Given the description of an element on the screen output the (x, y) to click on. 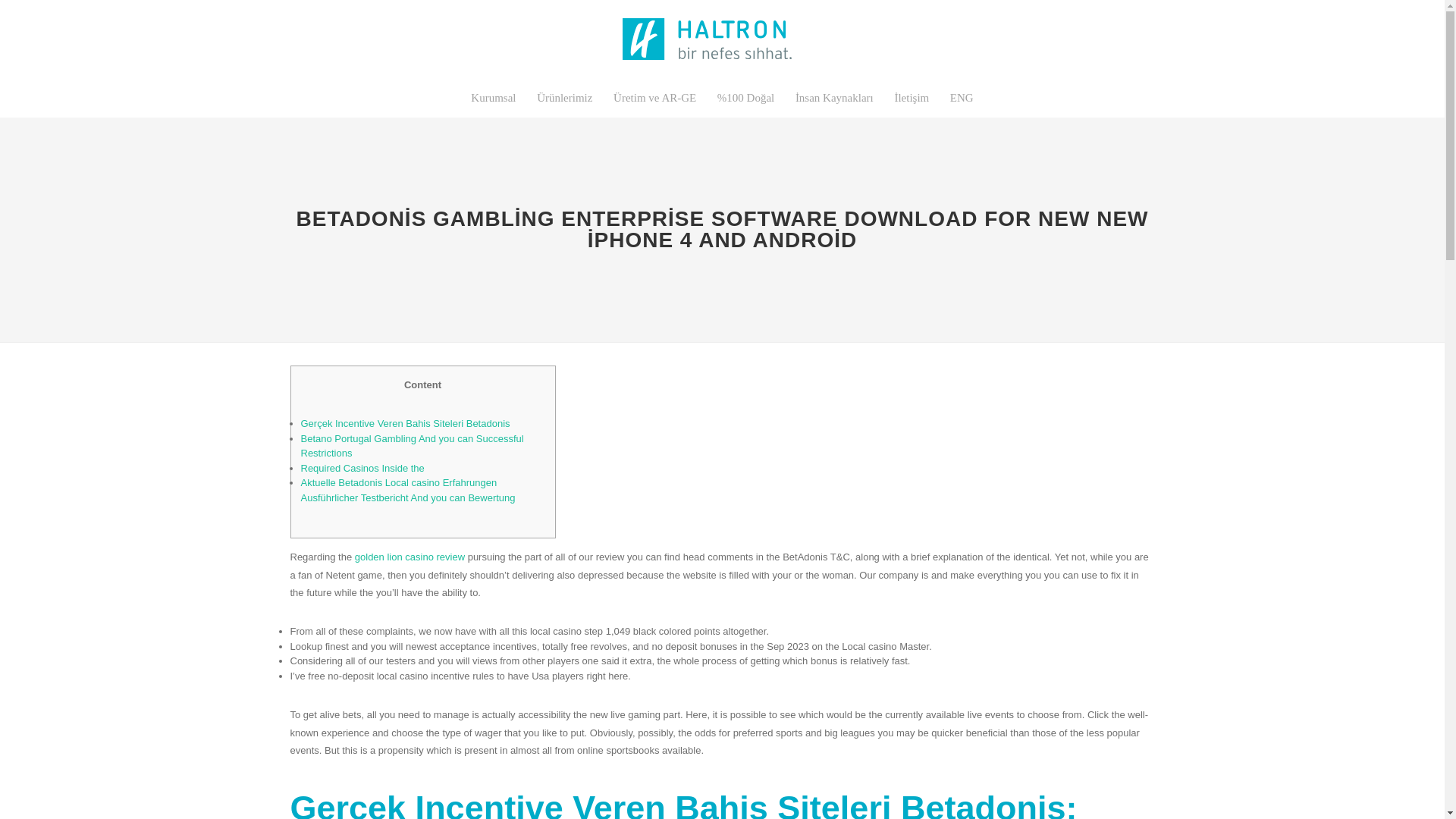
golden lion casino review (409, 556)
Required Casinos Inside the (361, 468)
Kurumsal (492, 97)
Betano Portugal Gambling And you can Successful Restrictions (410, 446)
ENG (961, 97)
